Given the description of an element on the screen output the (x, y) to click on. 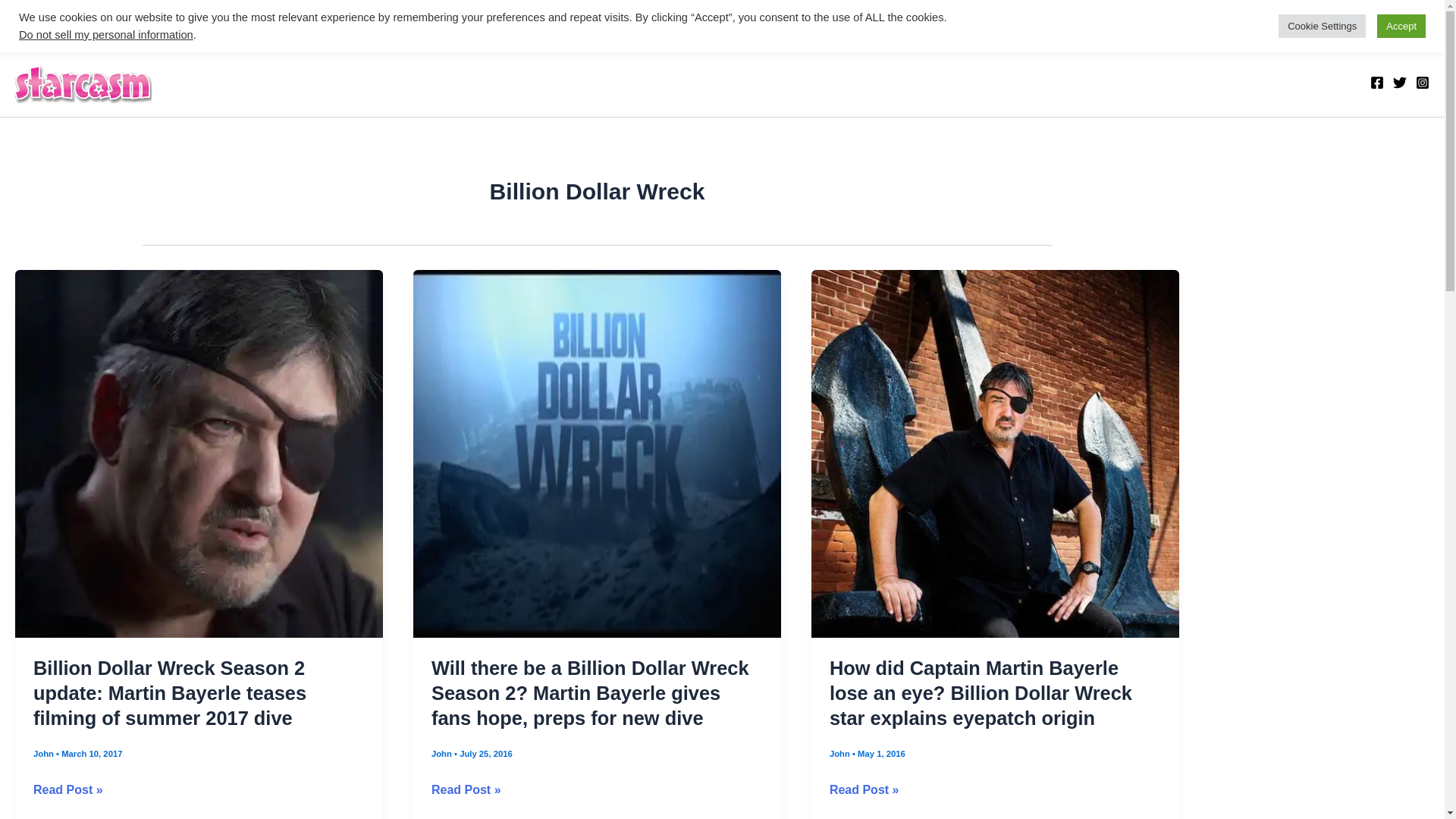
Search Button (1415, 31)
View all posts by John (840, 753)
View all posts by John (44, 753)
TOP CATEGORIES (87, 22)
John (44, 753)
View all posts by John (442, 753)
Home (188, 22)
